Given the description of an element on the screen output the (x, y) to click on. 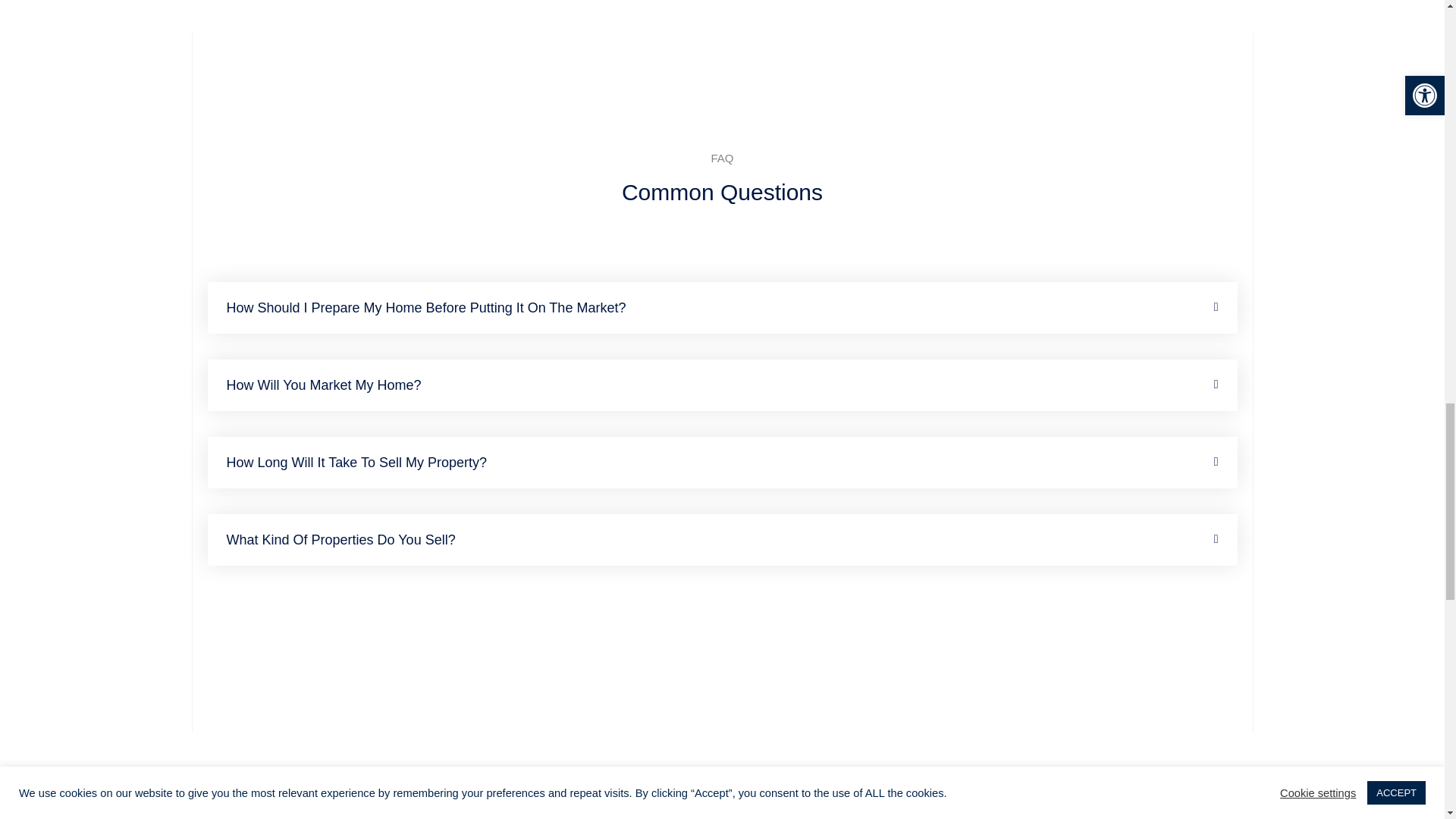
How Will You Market My Home? (322, 385)
What Kind Of Properties Do You Sell? (339, 539)
How Long Will It Take To Sell My Property? (355, 462)
